Given the description of an element on the screen output the (x, y) to click on. 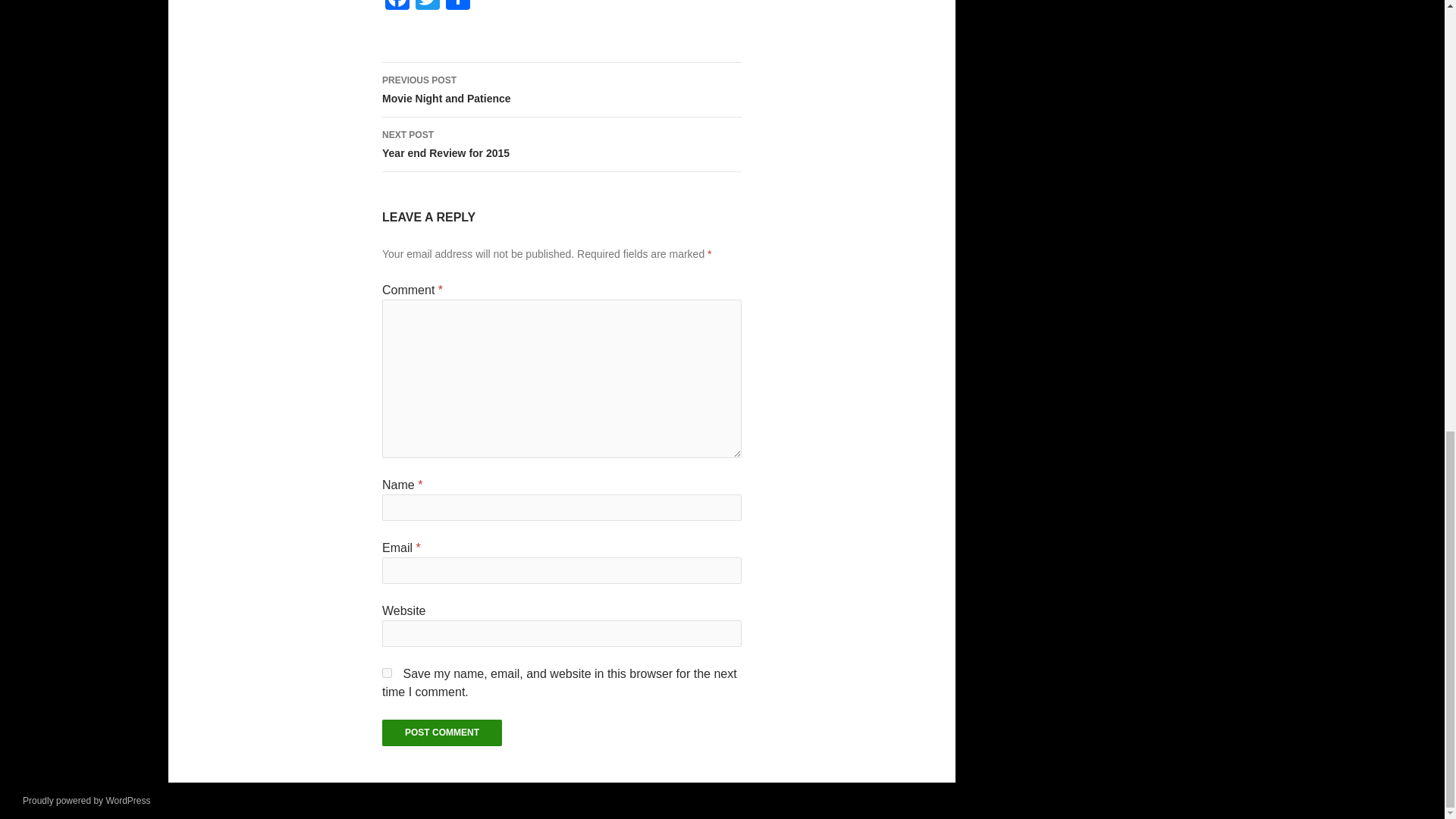
Facebook (396, 6)
Twitter (561, 144)
Post Comment (427, 6)
Proudly powered by WordPress (561, 90)
Twitter (441, 732)
Post Comment (87, 800)
yes (427, 6)
Facebook (441, 732)
